Given the description of an element on the screen output the (x, y) to click on. 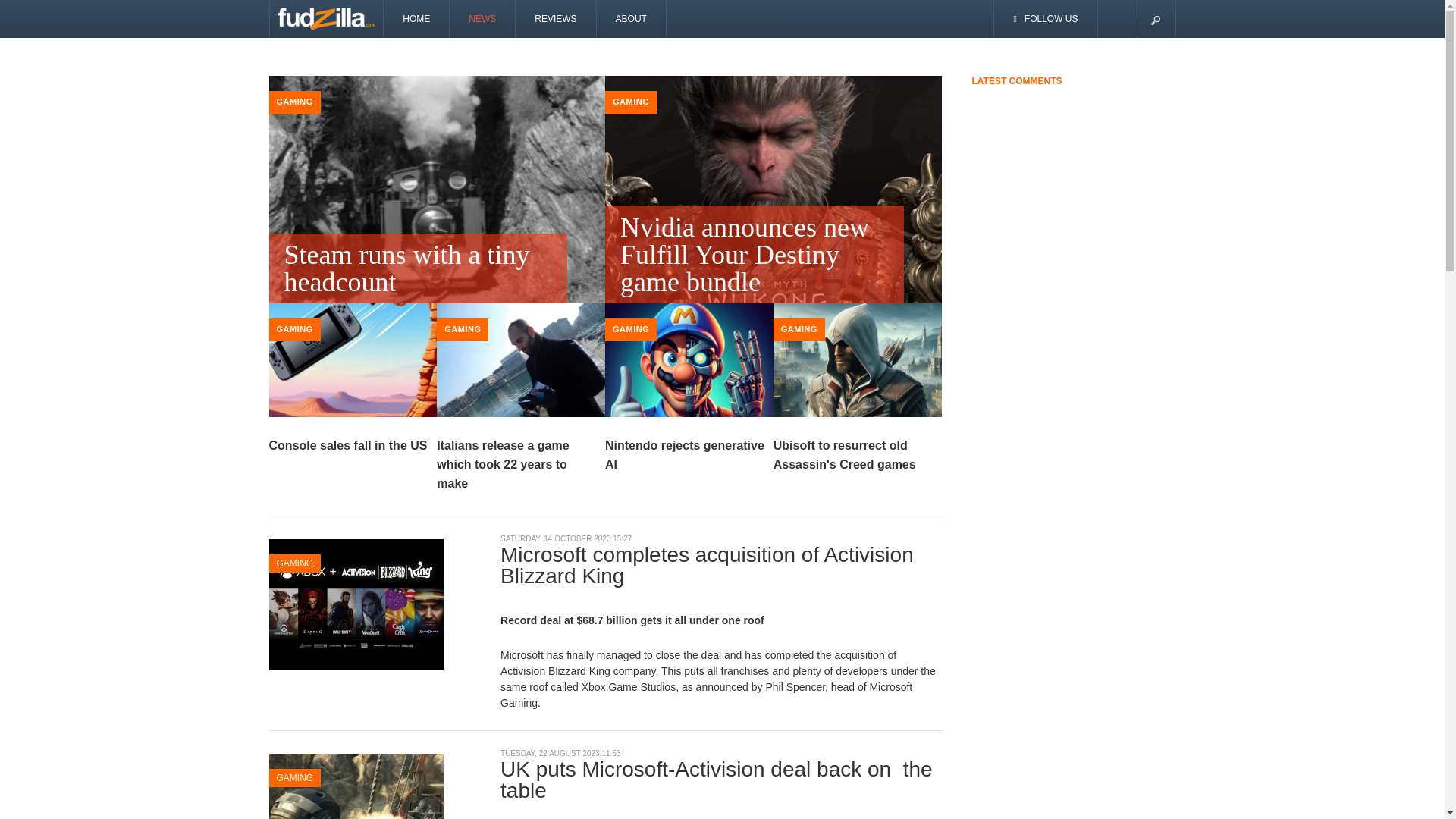
Continue reading "Console sales fall in the US" (351, 365)
Continue reading "Steam runs with a tiny headcount" (436, 200)
Nintendo rejects generative AI (684, 454)
Microsoft completes acquisition of Activision Blizzard King (354, 603)
Continue reading "Nintendo rejects generative AI" (689, 365)
Nvidia announces new Fulfill Your Destiny game bundle (754, 254)
HOME (416, 18)
GAMING (294, 328)
GAMING (630, 101)
Ubisoft to resurrect old Assassin's Creed games (844, 454)
FOLLOW US (1045, 18)
Steam runs with a tiny headcount (417, 268)
Console sales fall in the US (346, 445)
